Given the description of an element on the screen output the (x, y) to click on. 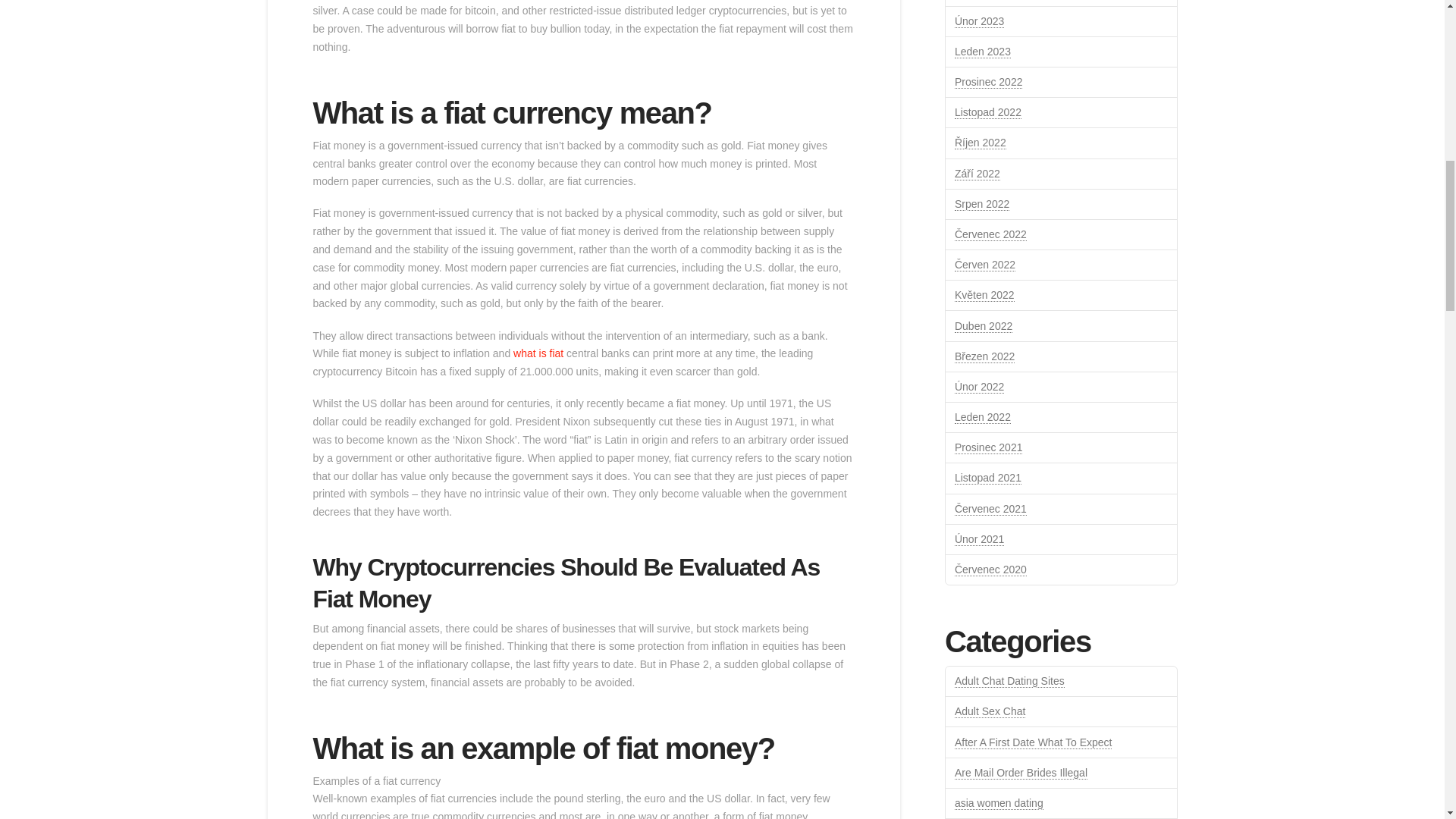
what is fiat (538, 353)
